Given the description of an element on the screen output the (x, y) to click on. 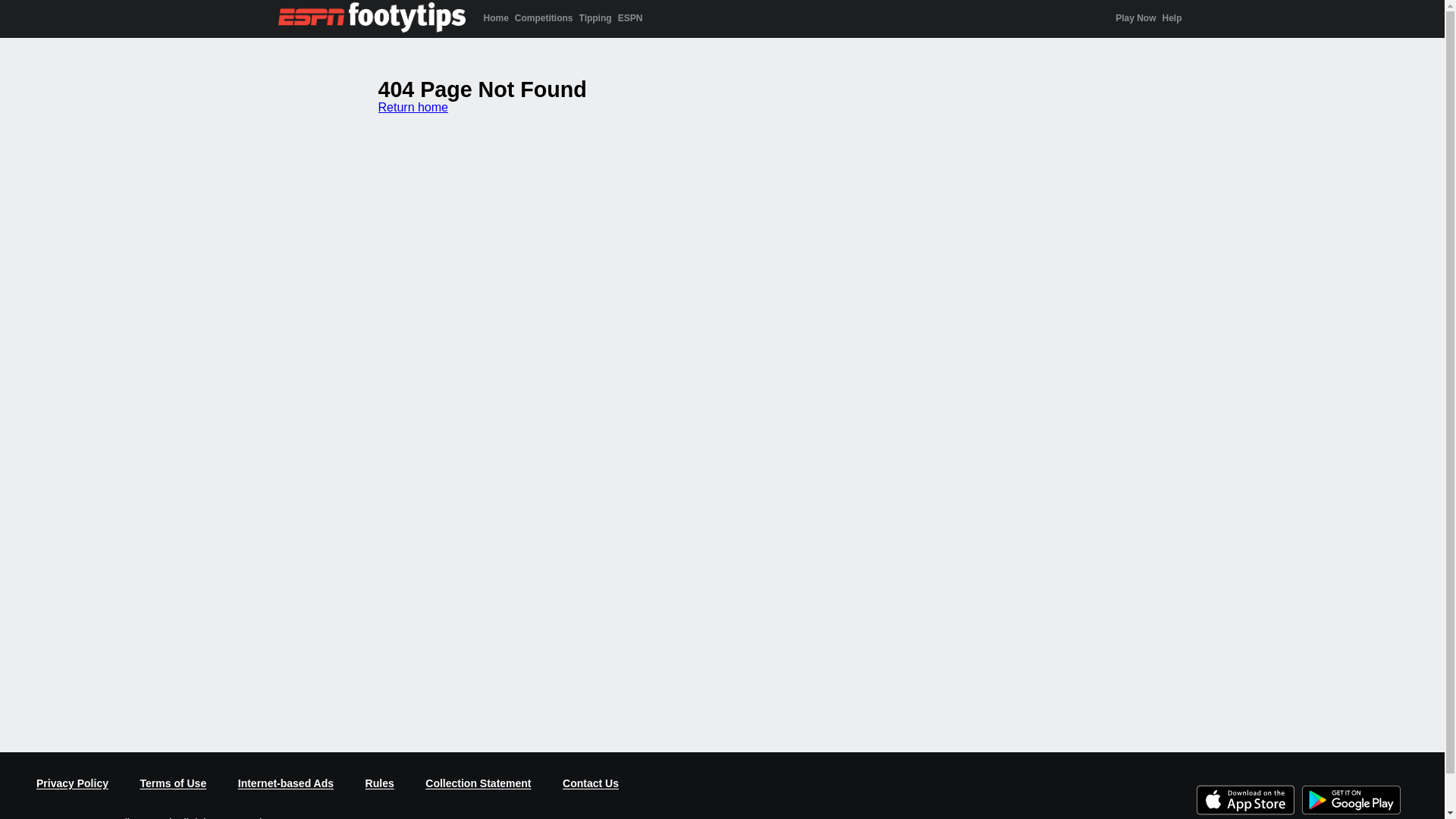
Competitions Element type: text (543, 17)
Tipping Element type: text (595, 17)
Return home Element type: text (412, 106)
Terms of Use Element type: text (173, 783)
Internet-based Ads Element type: text (285, 783)
Privacy Policy Element type: text (72, 783)
Collection Statement Element type: text (477, 783)
Contact Us Element type: text (590, 783)
Home Element type: text (495, 17)
Help Element type: text (1171, 17)
Rules Element type: text (379, 783)
